Given the description of an element on the screen output the (x, y) to click on. 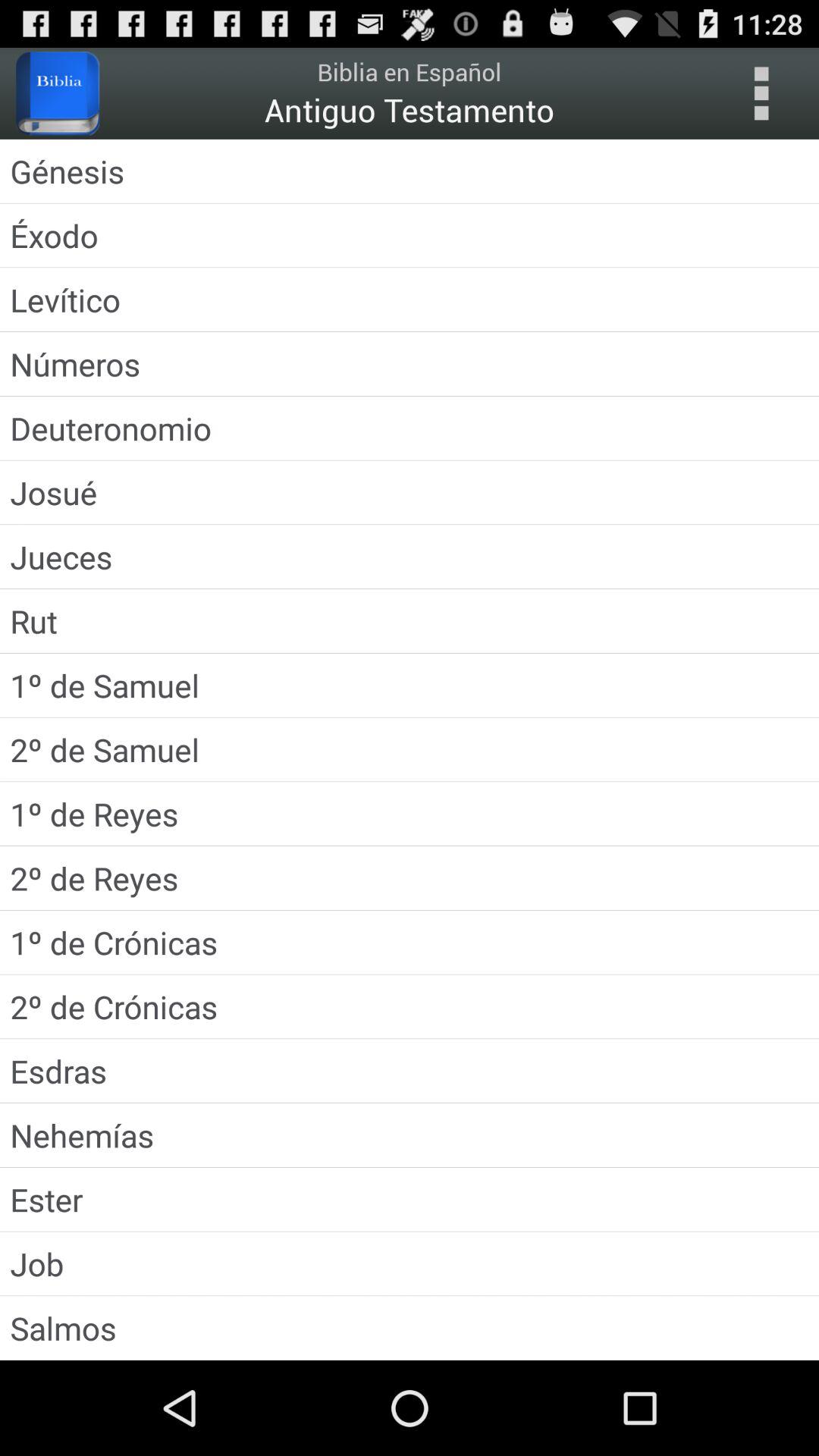
tap the salmos icon (409, 1327)
